Given the description of an element on the screen output the (x, y) to click on. 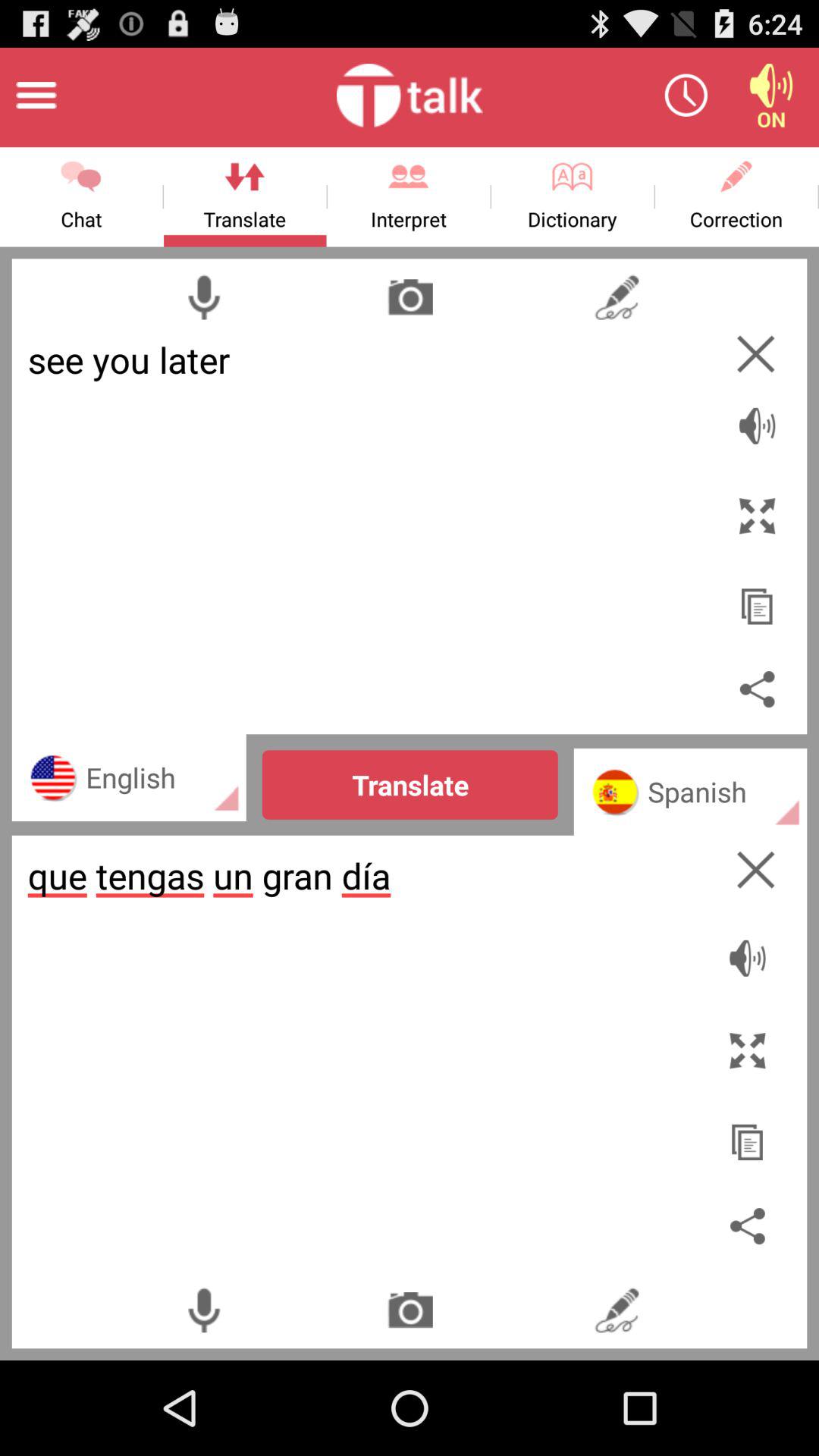
record (203, 296)
